Given the description of an element on the screen output the (x, y) to click on. 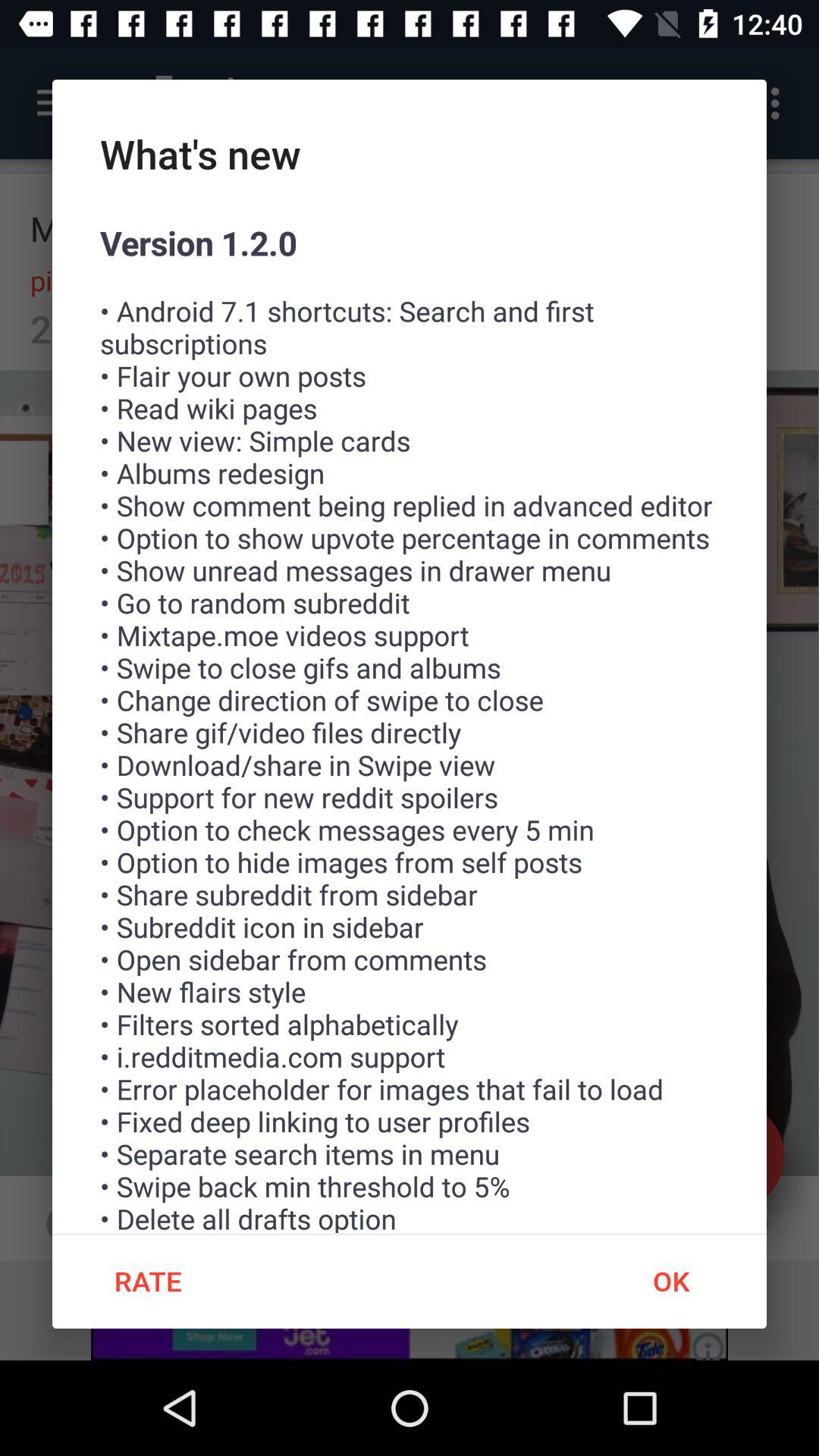
choose item to the right of the rate item (670, 1280)
